Given the description of an element on the screen output the (x, y) to click on. 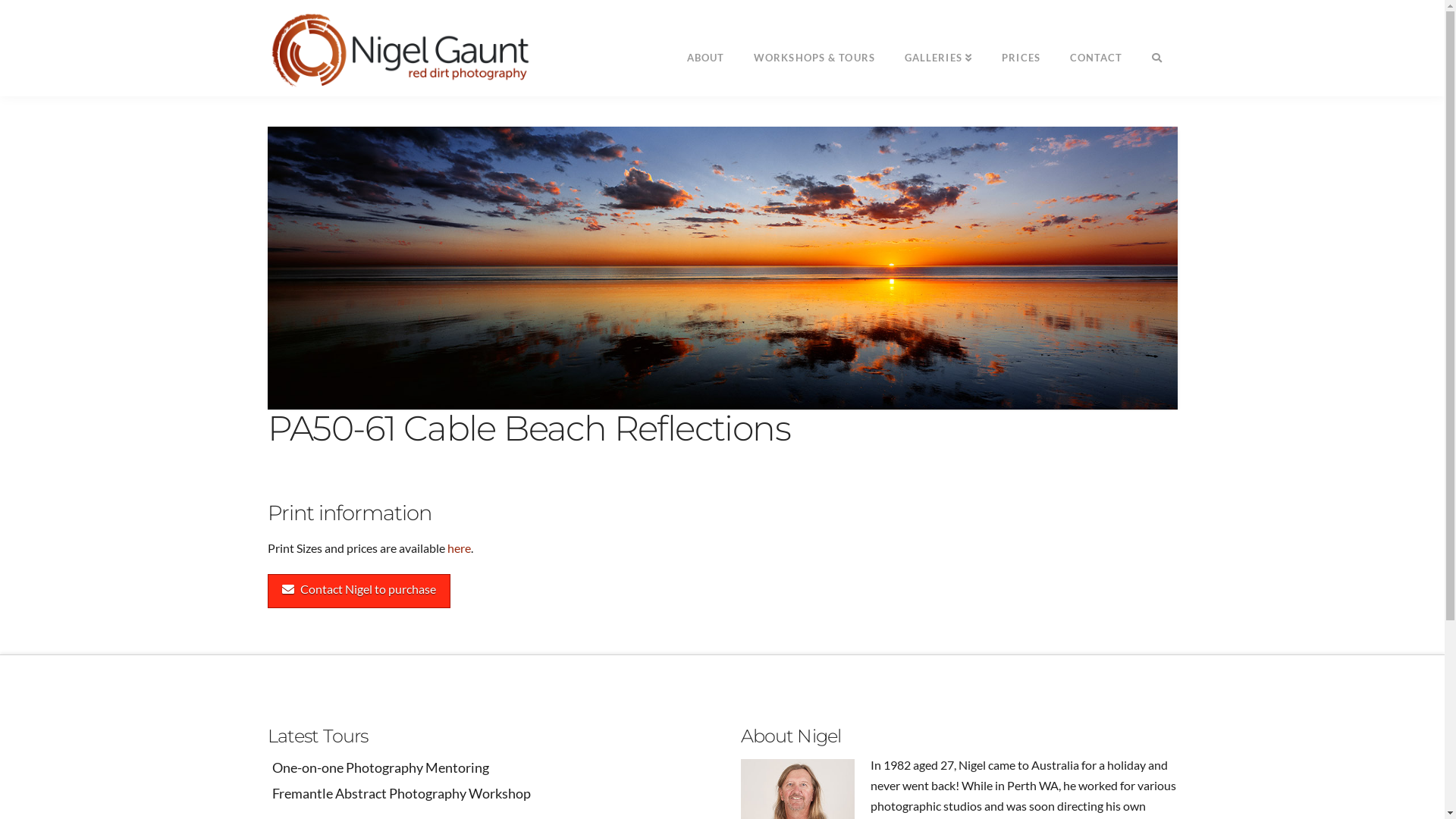
here Element type: text (458, 547)
WORKSHOPS & TOURS Element type: text (813, 45)
PRICES Element type: text (1020, 45)
GALLERIES Element type: text (938, 45)
Contact Nigel to purchase Element type: text (357, 591)
One-on-one Photography Mentoring Element type: text (485, 767)
Fremantle Abstract Photography Workshop Element type: text (485, 793)
CONTACT Element type: text (1095, 45)
ABOUT Element type: text (704, 45)
